Given the description of an element on the screen output the (x, y) to click on. 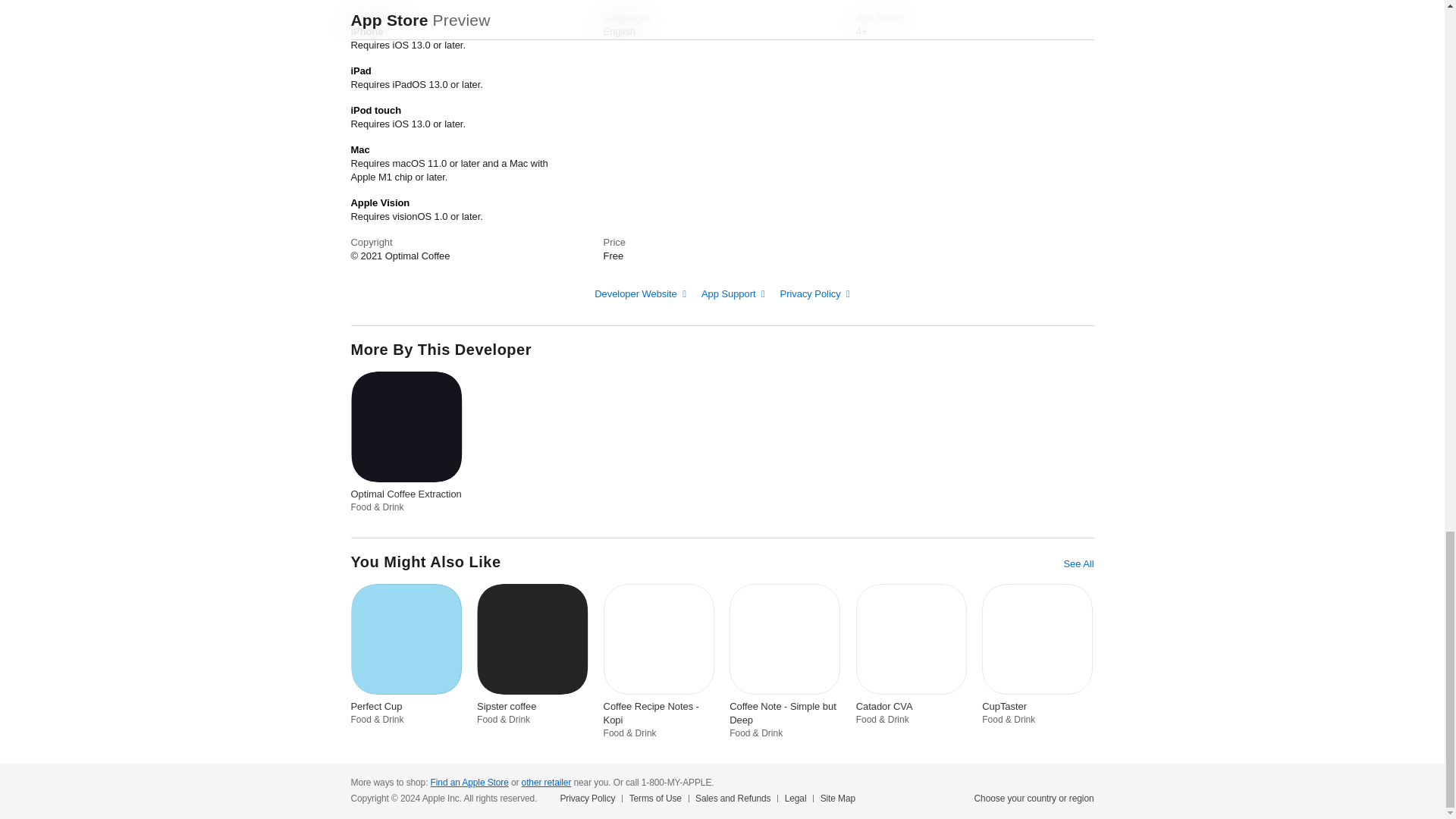
Choose your country or region (1034, 798)
See All (1077, 563)
App Support (733, 293)
Privacy Policy (815, 293)
Developer Website (639, 293)
